Given the description of an element on the screen output the (x, y) to click on. 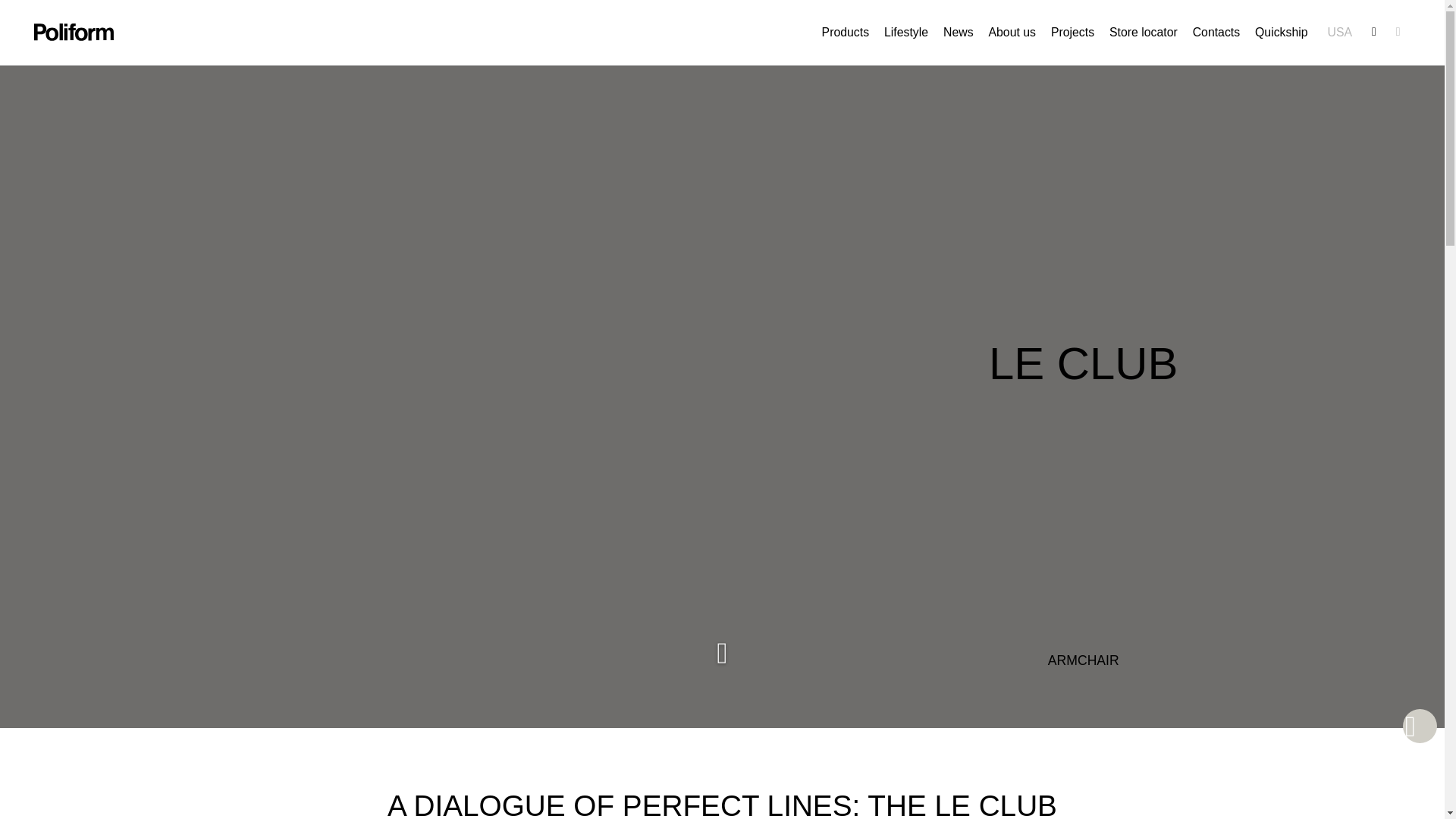
Poliform (73, 31)
Contacts (1216, 32)
News (958, 32)
About us (1011, 32)
Quickship (1281, 32)
Projects (1072, 32)
Products (845, 32)
USA (1339, 32)
Store locator (1143, 32)
Lifestyle (905, 32)
